Given the description of an element on the screen output the (x, y) to click on. 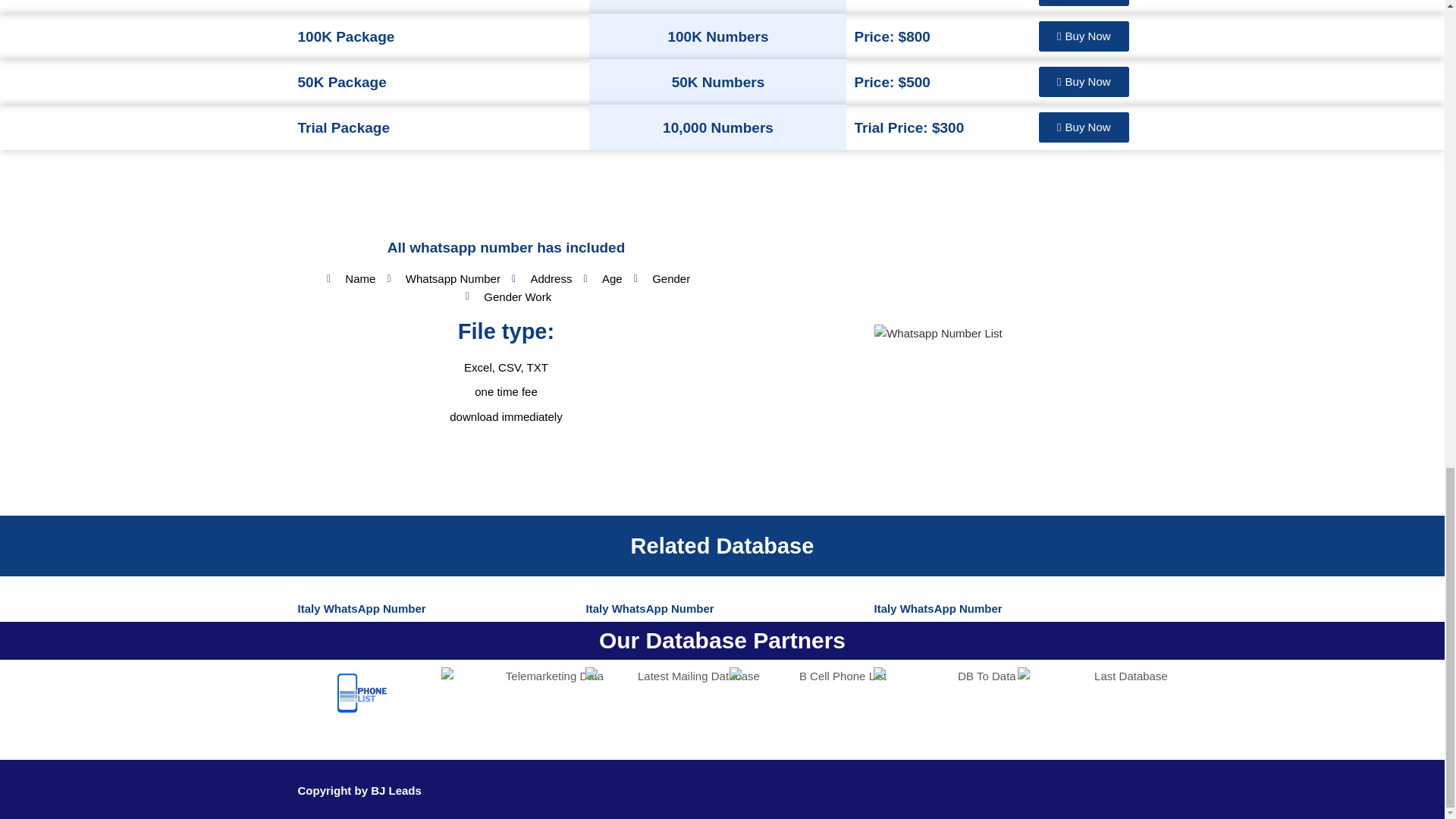
Buy Now (1084, 2)
Buy Now (1084, 127)
BJ Leads (396, 789)
Buy Now (1084, 81)
Italy WhatsApp Number (649, 608)
Italy WhatsApp Number (937, 608)
Buy Now (1084, 36)
Italy WhatsApp Number (361, 608)
